Given the description of an element on the screen output the (x, y) to click on. 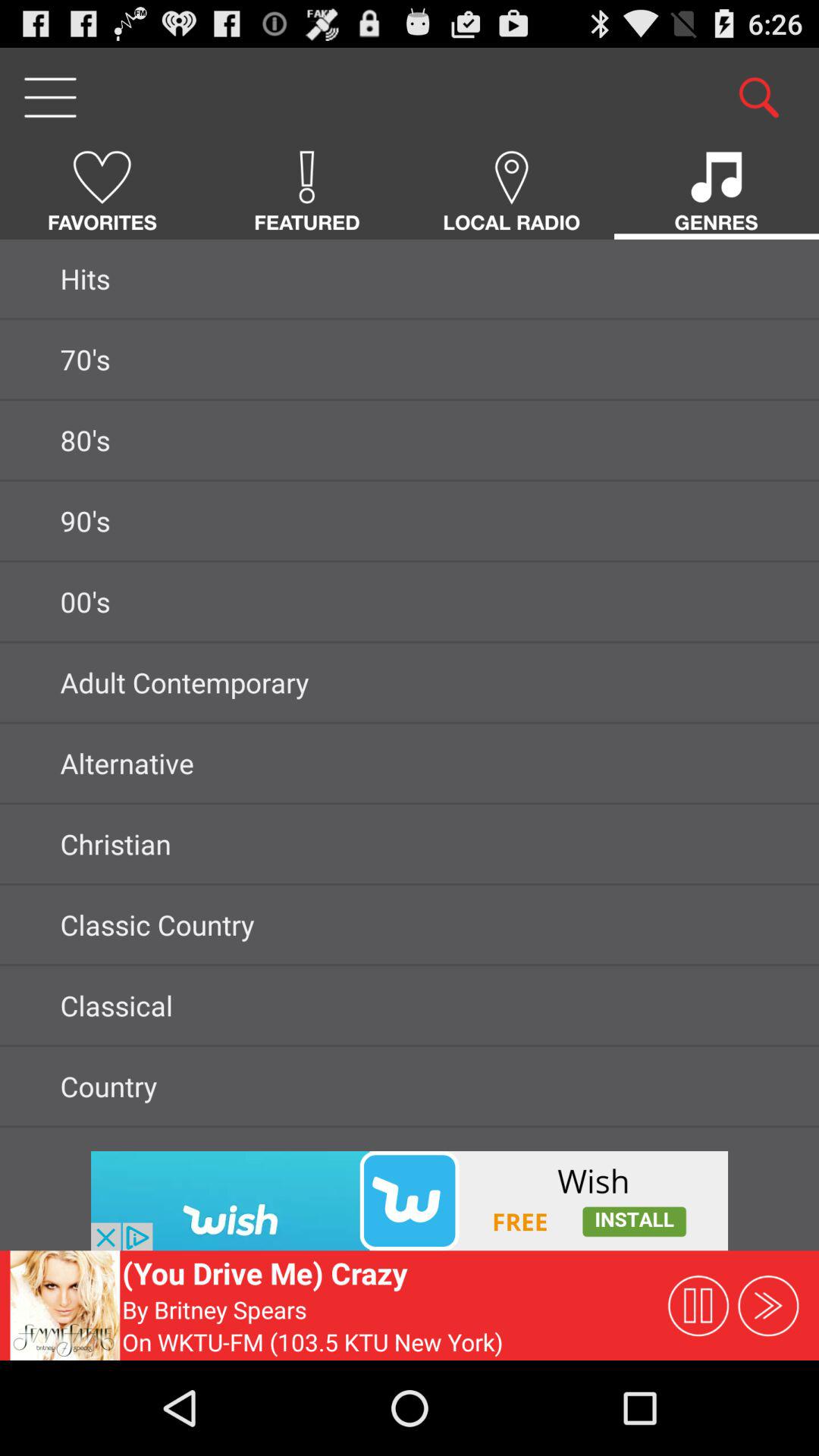
go back (409, 1200)
